Given the description of an element on the screen output the (x, y) to click on. 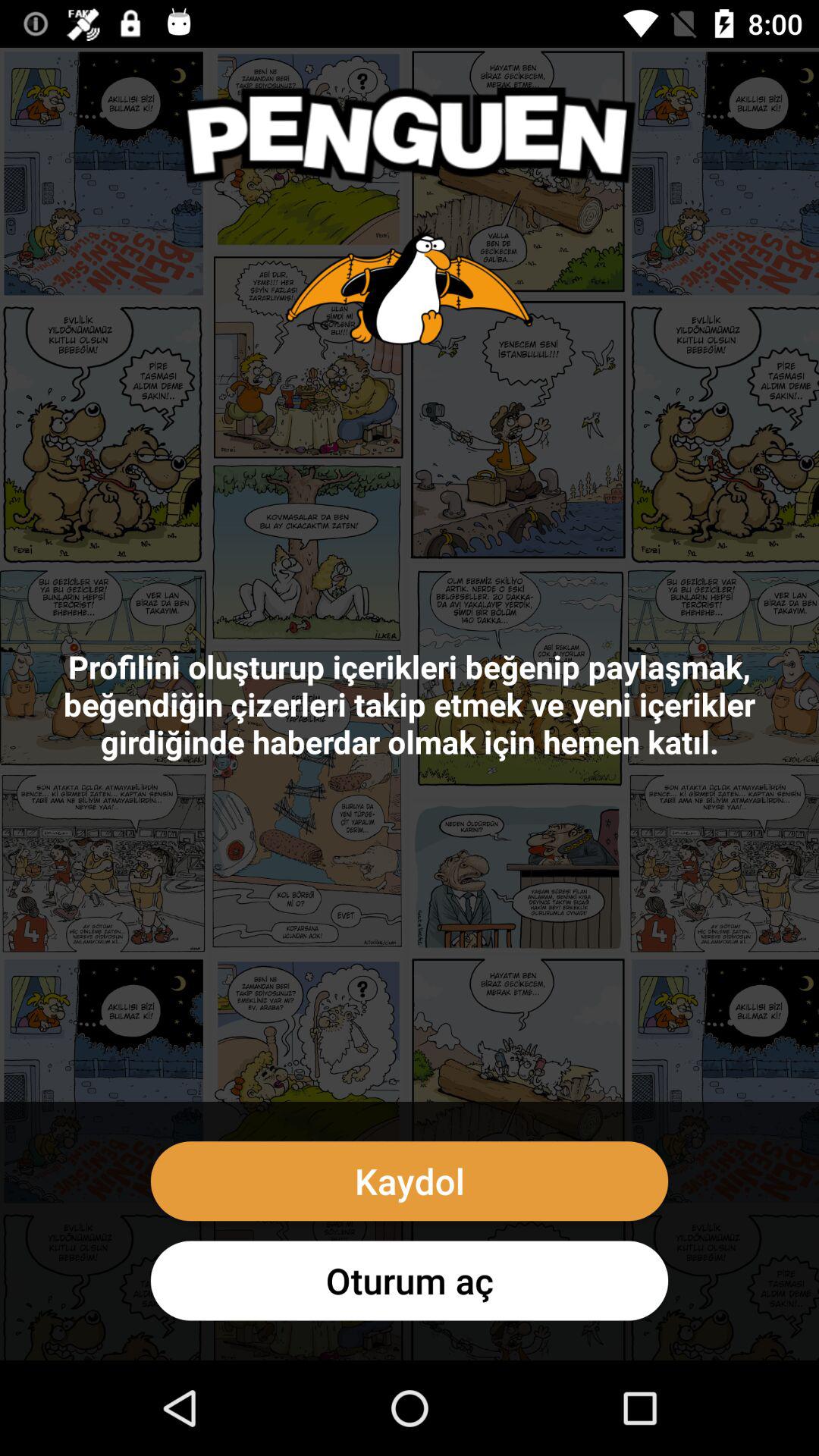
click the kaydol item (409, 1181)
